Given the description of an element on the screen output the (x, y) to click on. 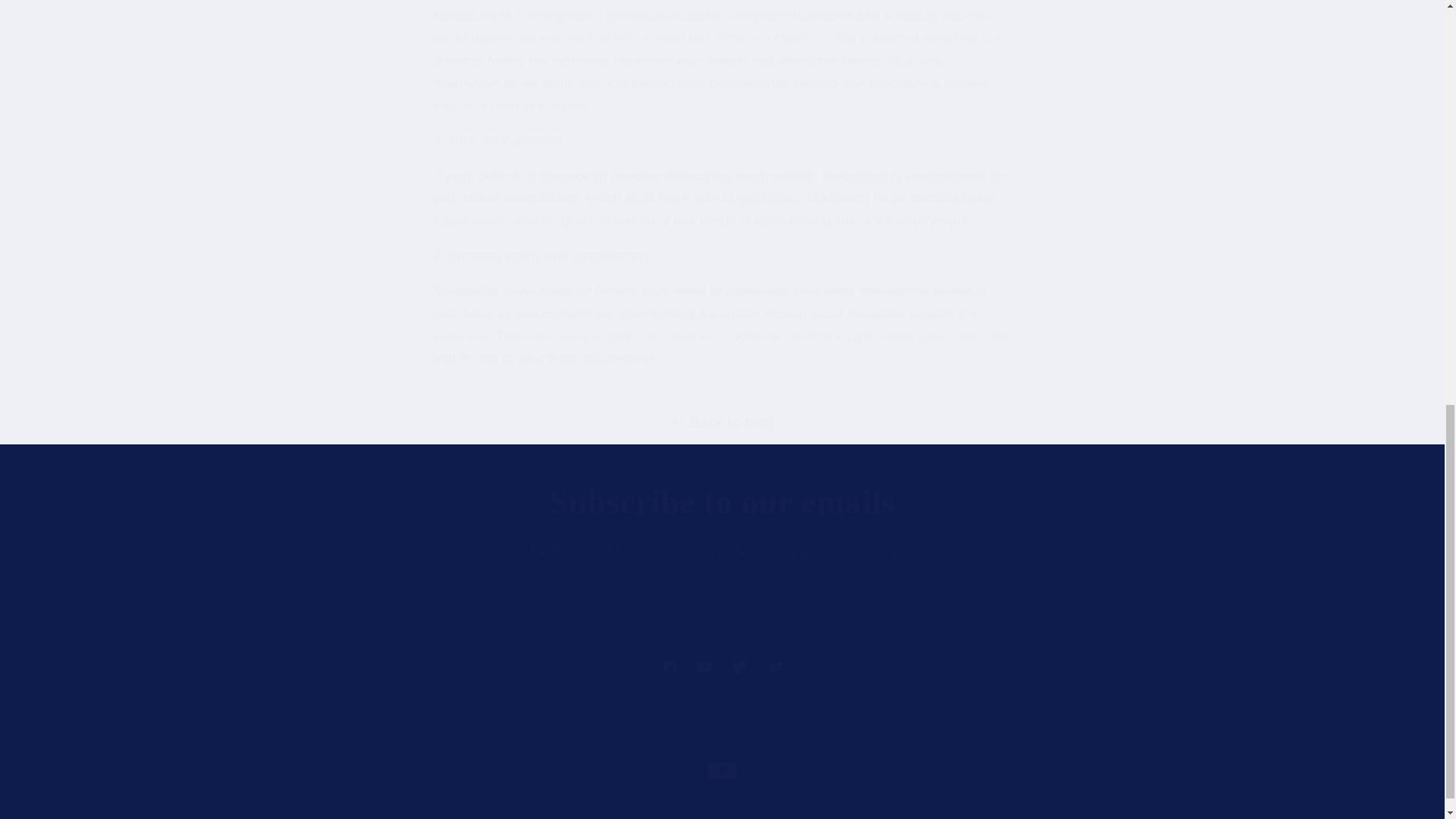
YouTube (704, 667)
Facebook (721, 667)
Vimeo (669, 667)
Twitter (774, 667)
Powered by Shopify (739, 667)
My Store (408, 798)
Email (341, 798)
Subscribe to our emails (722, 596)
